Given the description of an element on the screen output the (x, y) to click on. 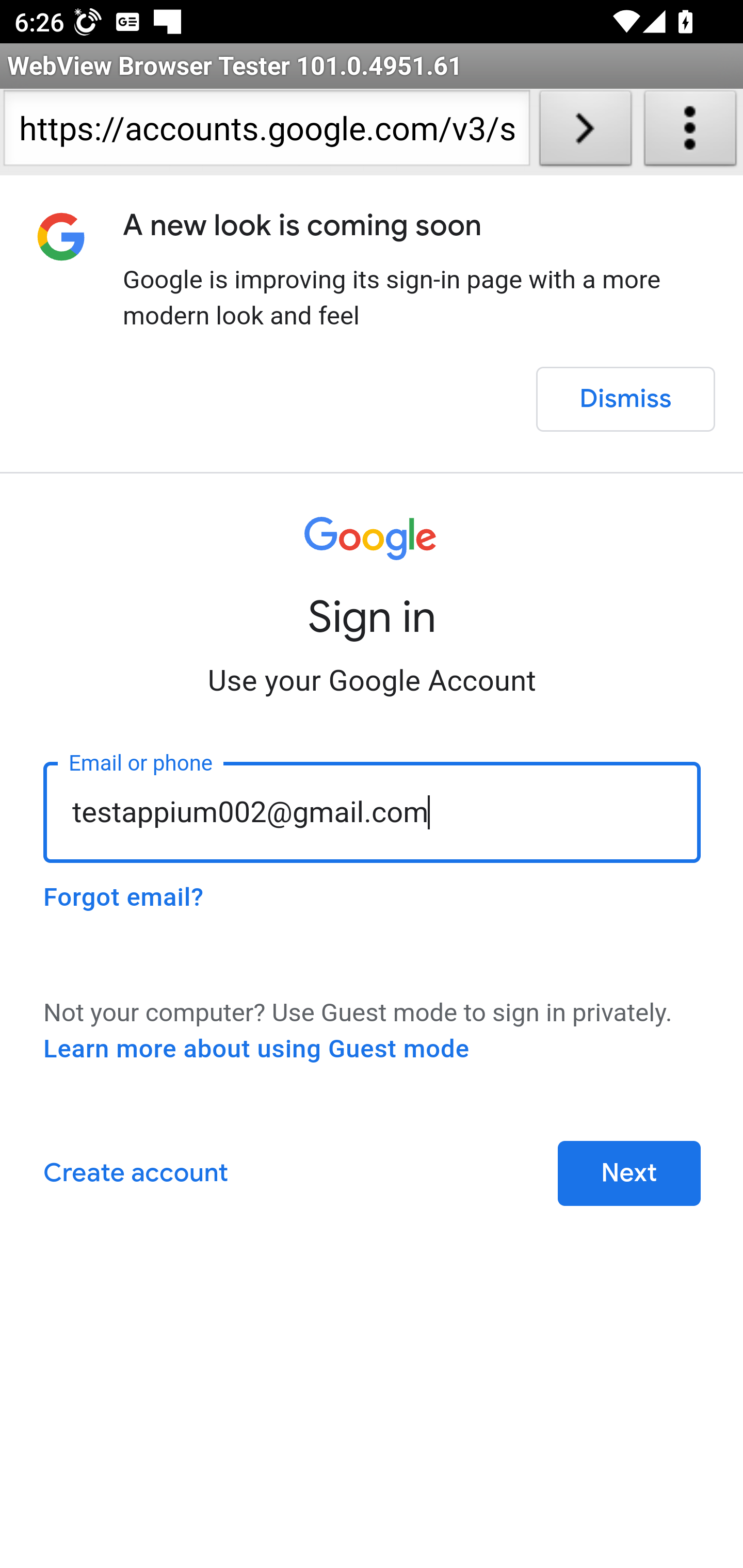
Load URL (585, 132)
About WebView (690, 132)
Dismiss (625, 398)
testappium002@gmail.com (372, 811)
Forgot email? (123, 897)
Learn more about using Guest mode (256, 1048)
Create account (134, 1173)
Next (629, 1173)
